Given the description of an element on the screen output the (x, y) to click on. 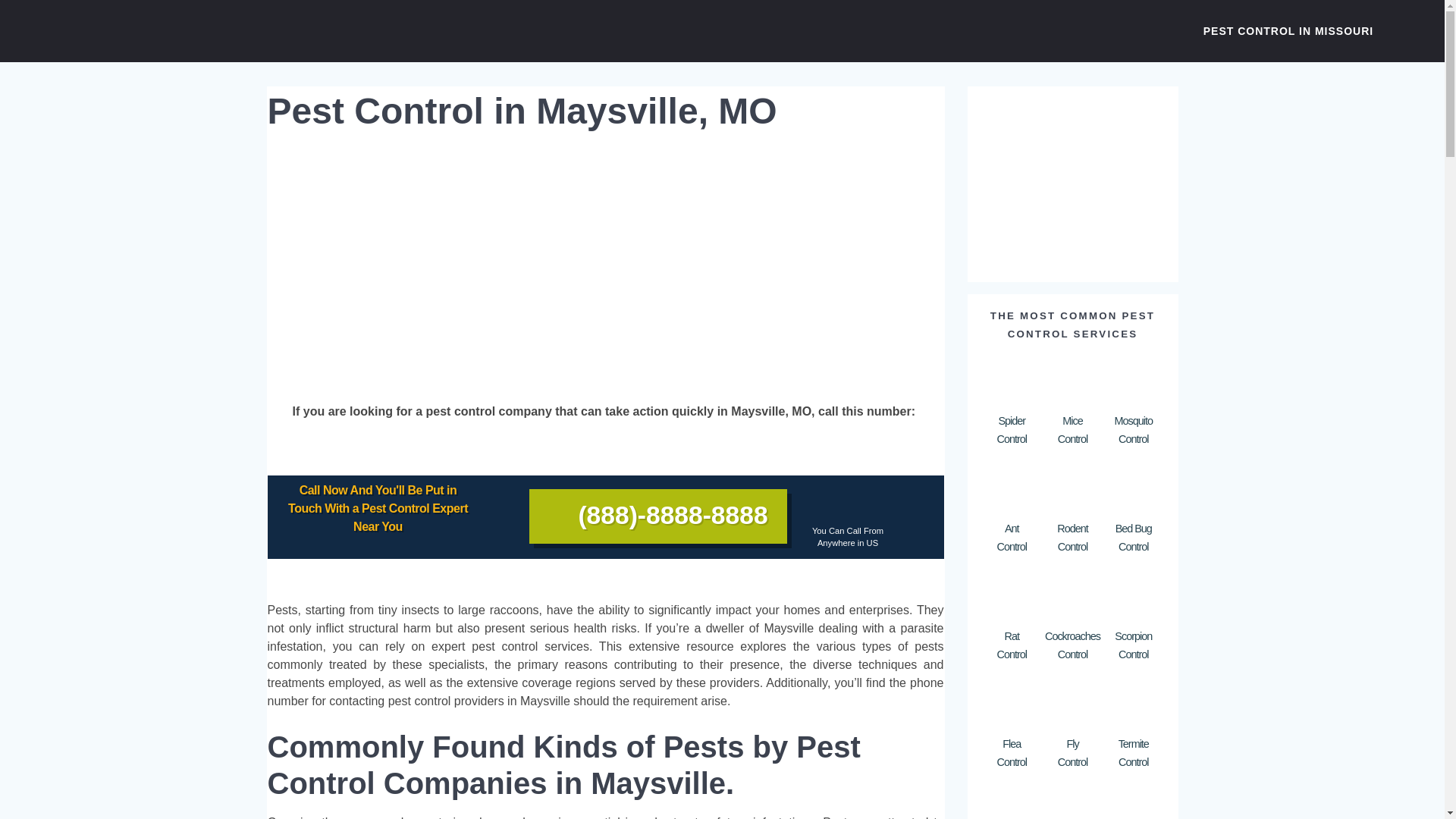
Pest control against mosquitoes (1133, 380)
PEST CONTROL IN MISSOURI (1288, 30)
Pest control against bees (1072, 802)
Pest control against gophers (1011, 802)
Pest control against spiders (1011, 380)
Pest control against fleas (1011, 703)
Pest control against cockroaches (1072, 595)
Pest control against rodents (1072, 488)
Pest control against rats (1011, 802)
Pest control against flies (1011, 595)
Pest control against ants (1072, 703)
Pest control against mice (1011, 488)
